Given the description of an element on the screen output the (x, y) to click on. 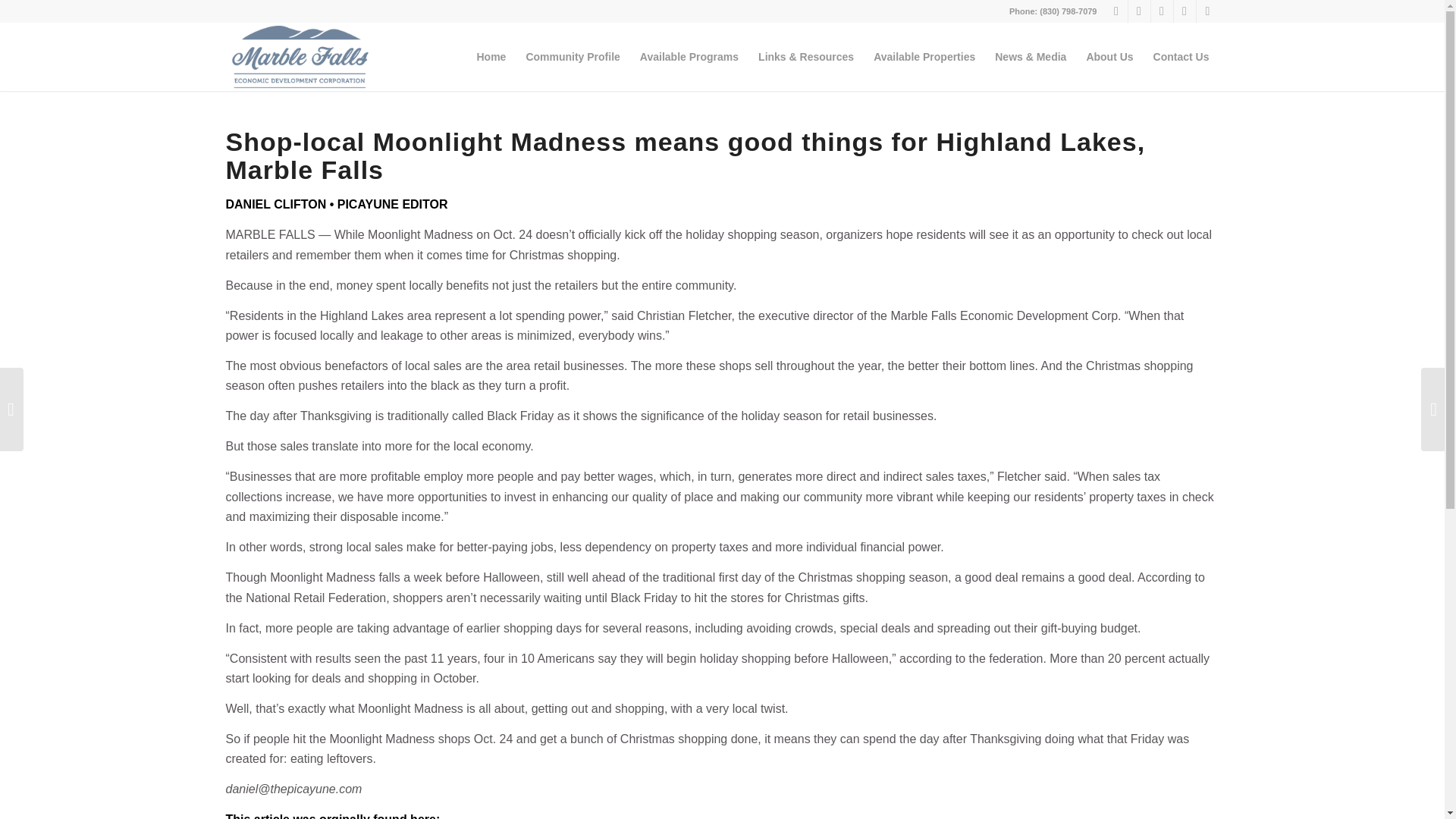
Available Programs (689, 56)
Community Profile (571, 56)
Youtube (1184, 11)
marble falls EDC logo blue (299, 56)
Flickr (1162, 11)
Twitter (1115, 11)
Facebook (1139, 11)
About Us (1108, 56)
LinkedIn (1208, 11)
Available Properties (924, 56)
